Given the description of an element on the screen output the (x, y) to click on. 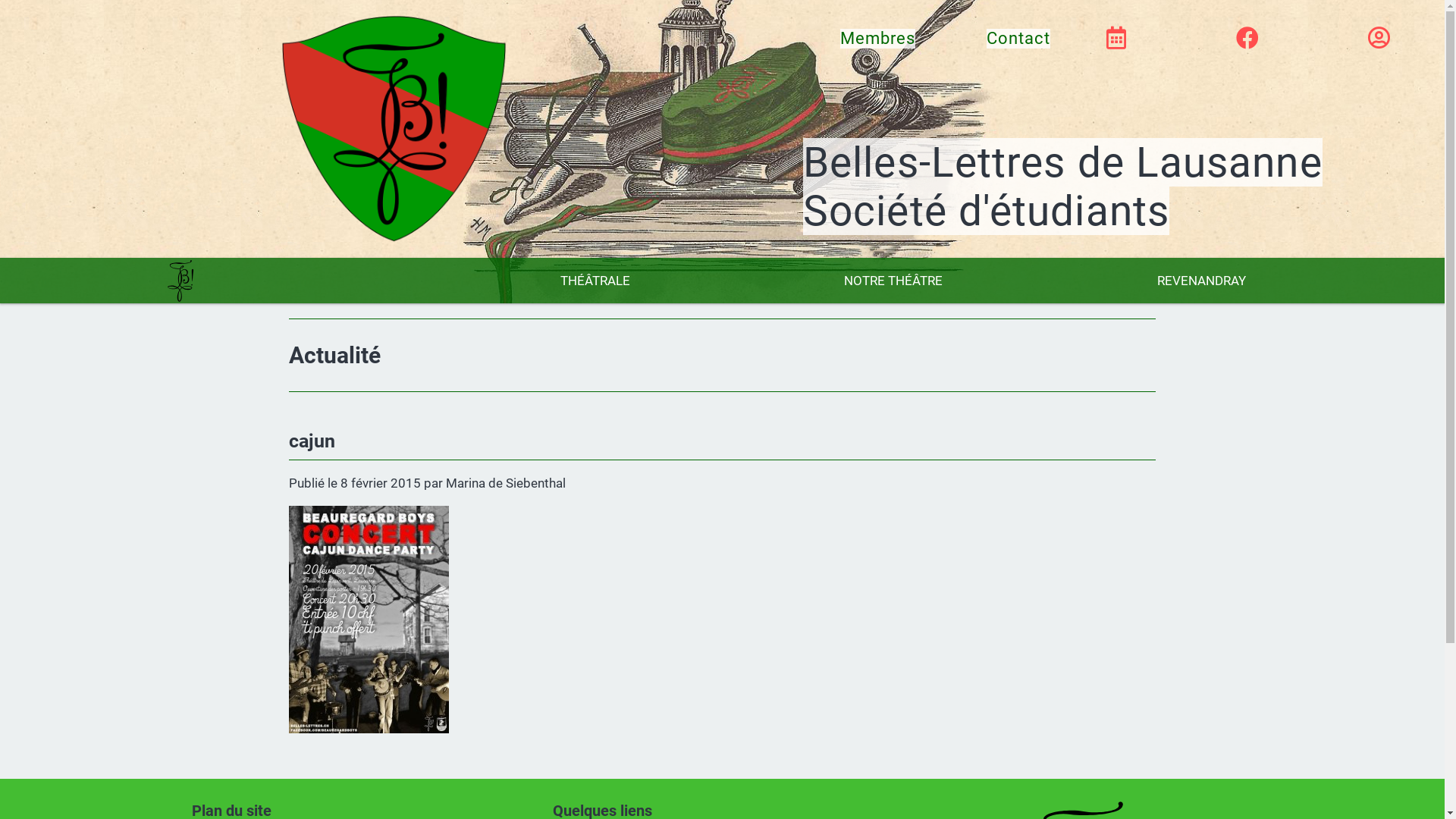
Membres Element type: text (878, 38)
REVENANDRAY Element type: text (1201, 280)
Contact Element type: text (1018, 38)
